Given the description of an element on the screen output the (x, y) to click on. 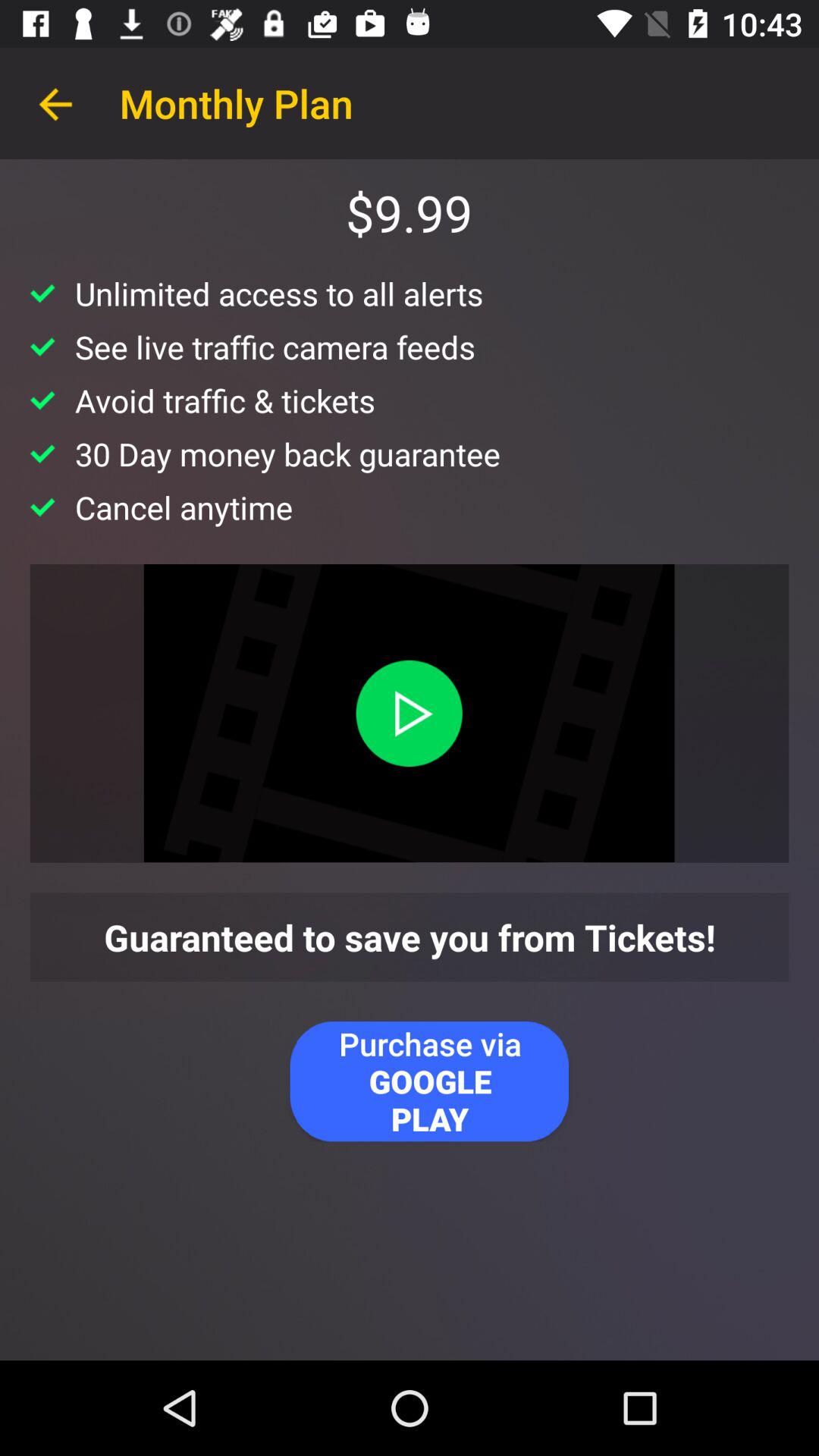
turn on purchase via google item (429, 1081)
